Given the description of an element on the screen output the (x, y) to click on. 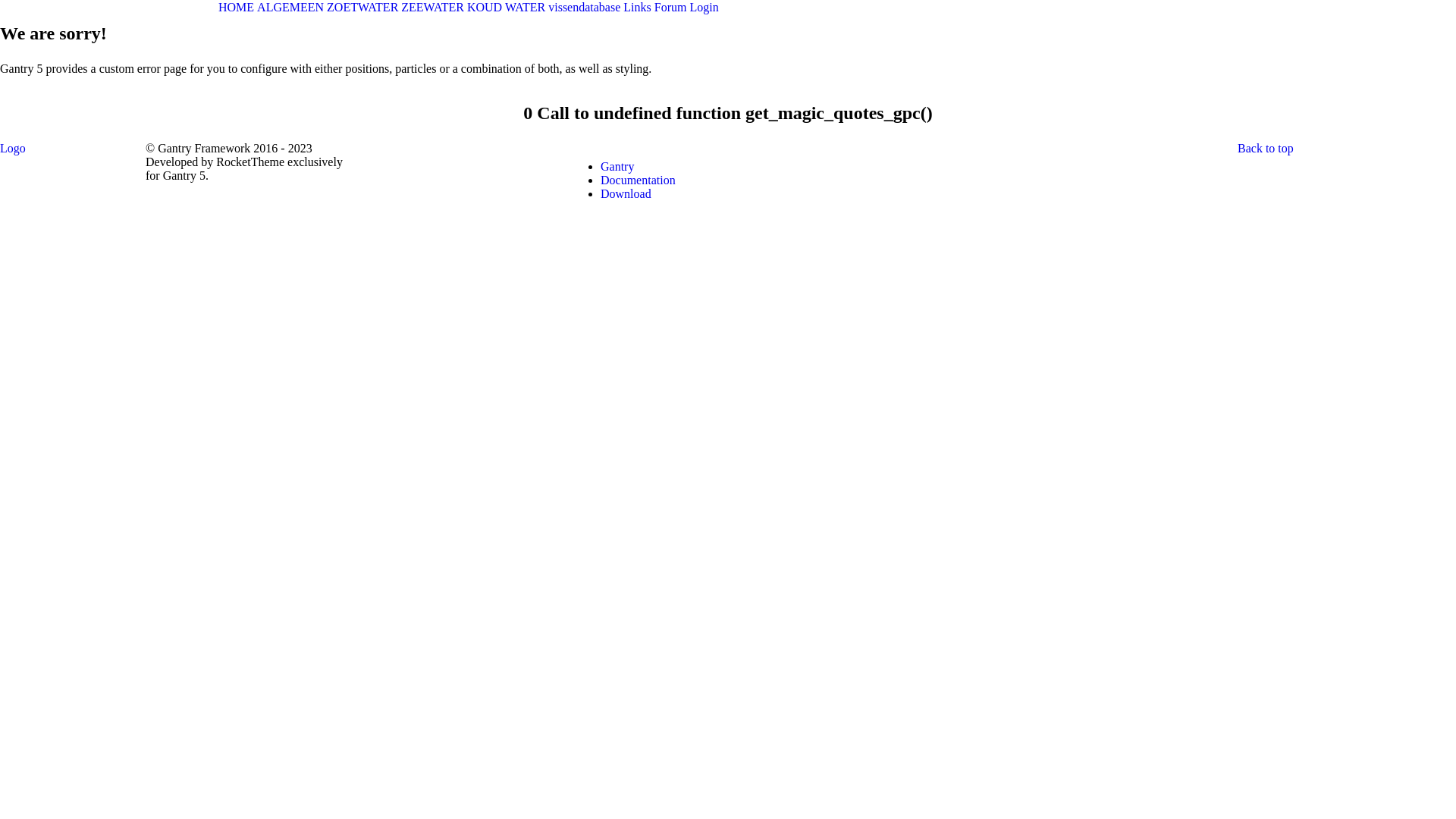
Logo Element type: text (12, 147)
Links Element type: text (636, 7)
Back to top Element type: text (1265, 147)
ZEEWATER Element type: text (432, 7)
HOME Element type: text (236, 7)
Gantry Element type: text (616, 166)
Forum Element type: text (670, 7)
Documentation Element type: text (637, 179)
KOUD WATER Element type: text (506, 7)
ZOETWATER Element type: text (362, 7)
Download Element type: text (625, 193)
ALGEMEEN Element type: text (290, 7)
vissendatabase Element type: text (584, 7)
Login Element type: text (703, 7)
